Given the description of an element on the screen output the (x, y) to click on. 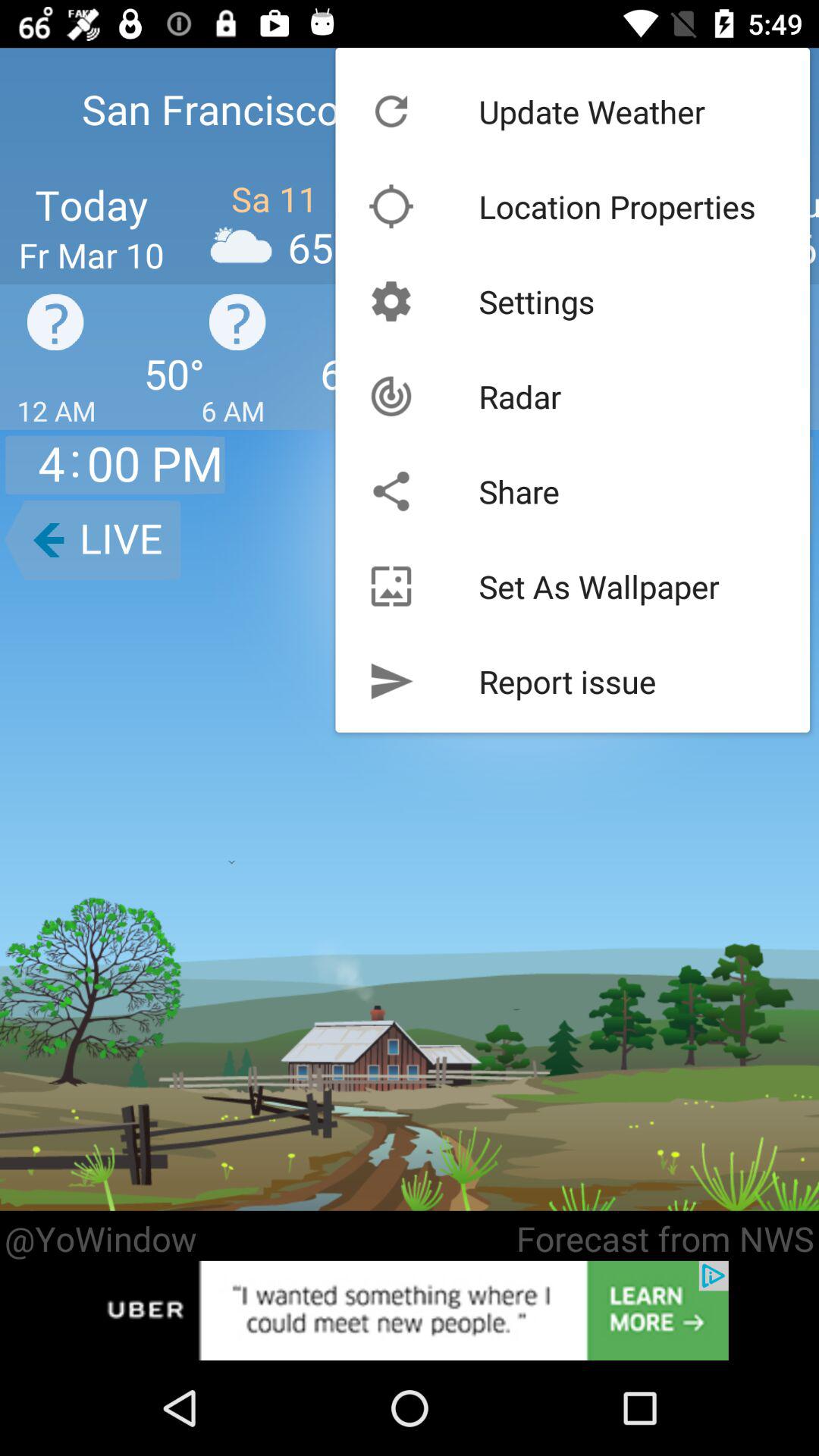
press the settings icon (536, 301)
